Given the description of an element on the screen output the (x, y) to click on. 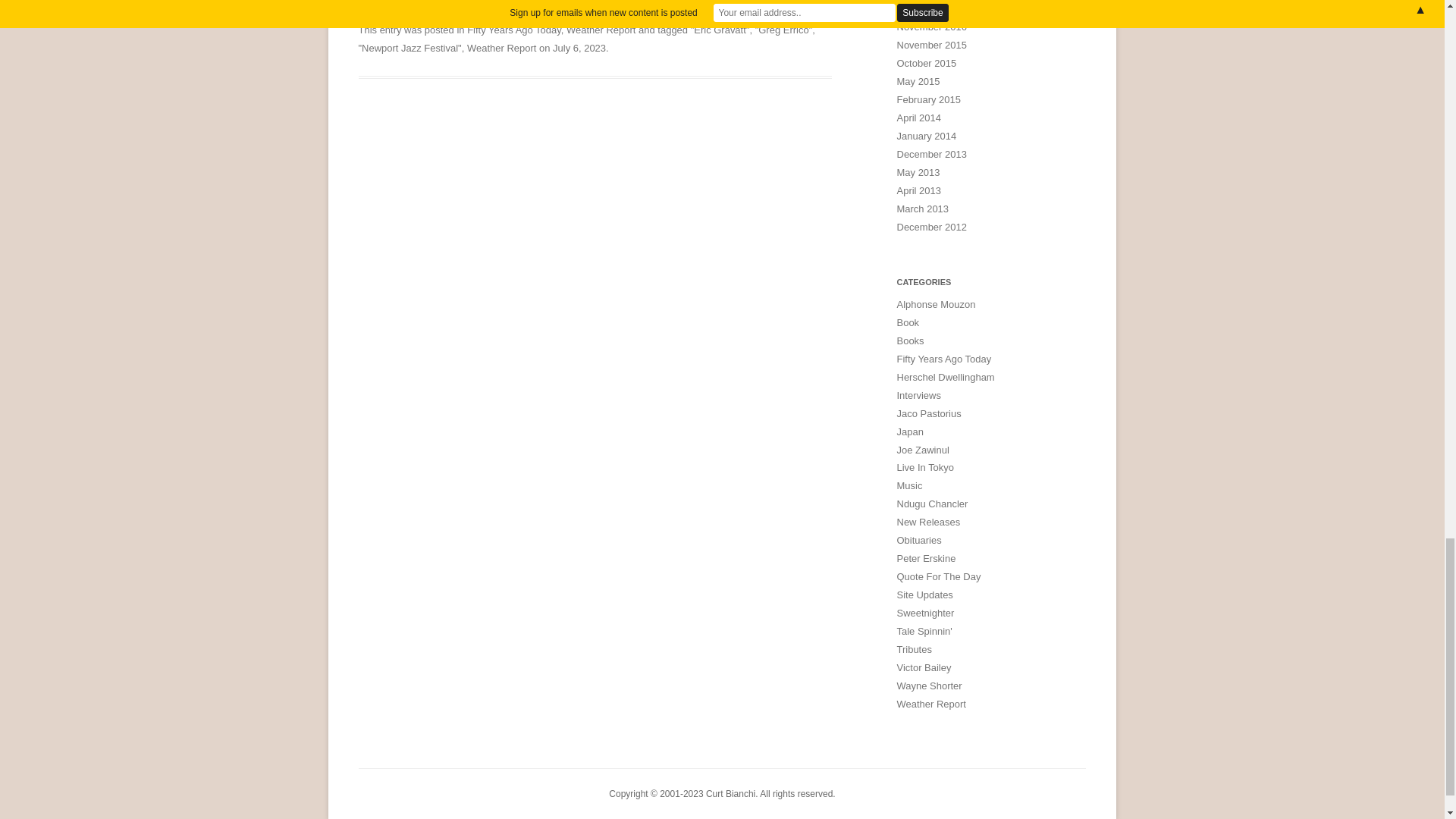
Weather Report (600, 30)
"Newport Jazz Festival" (409, 48)
1:00 am (579, 48)
Weather Report (501, 48)
Fifty Years Ago Today (513, 30)
"Greg Errico" (783, 30)
July 6, 2023 (579, 48)
"Eric Gravatt" (719, 30)
